Given the description of an element on the screen output the (x, y) to click on. 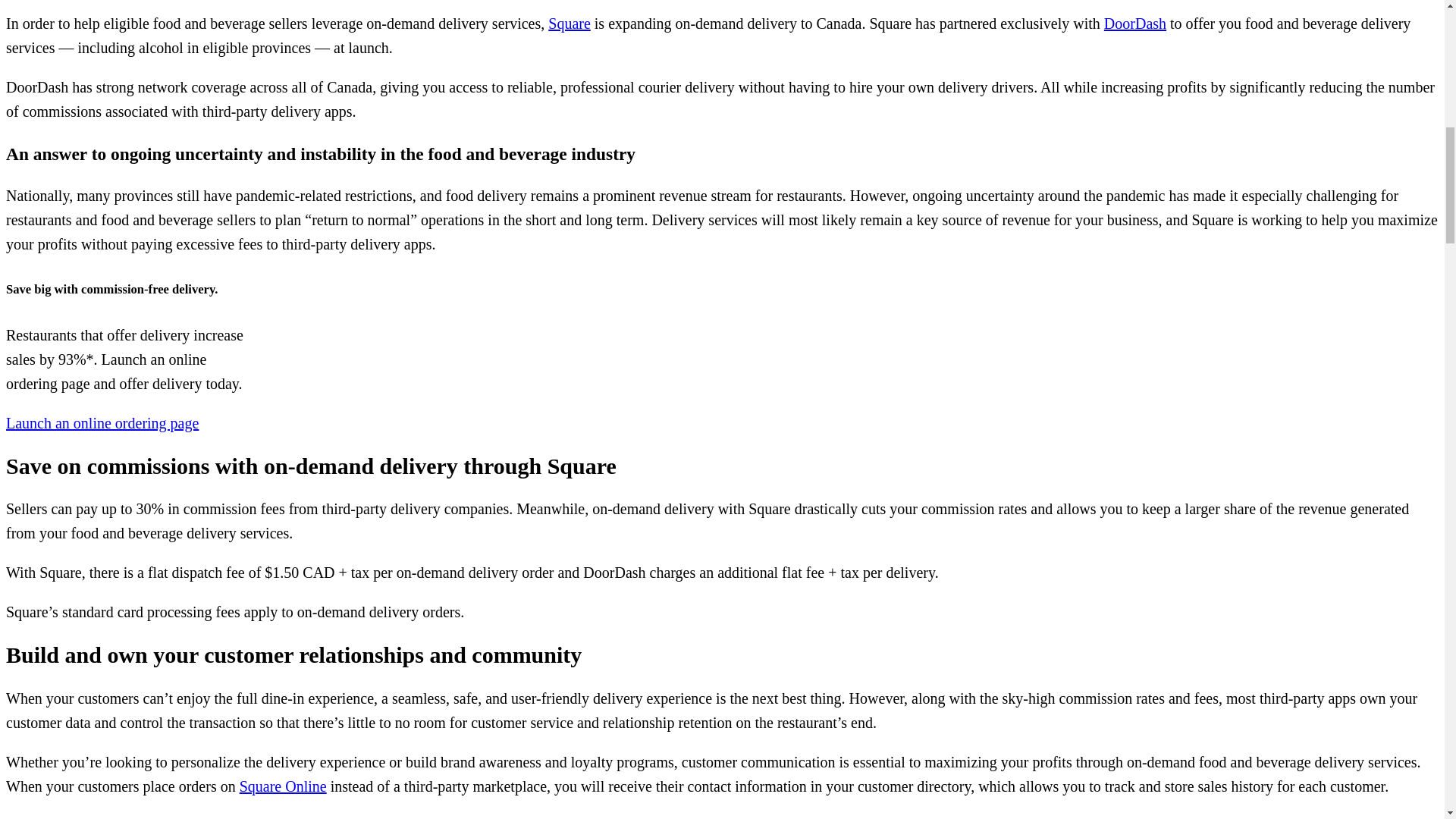
Launch an online ordering page (101, 422)
Square (569, 23)
DoorDash (1134, 23)
Square Online (283, 786)
